Given the description of an element on the screen output the (x, y) to click on. 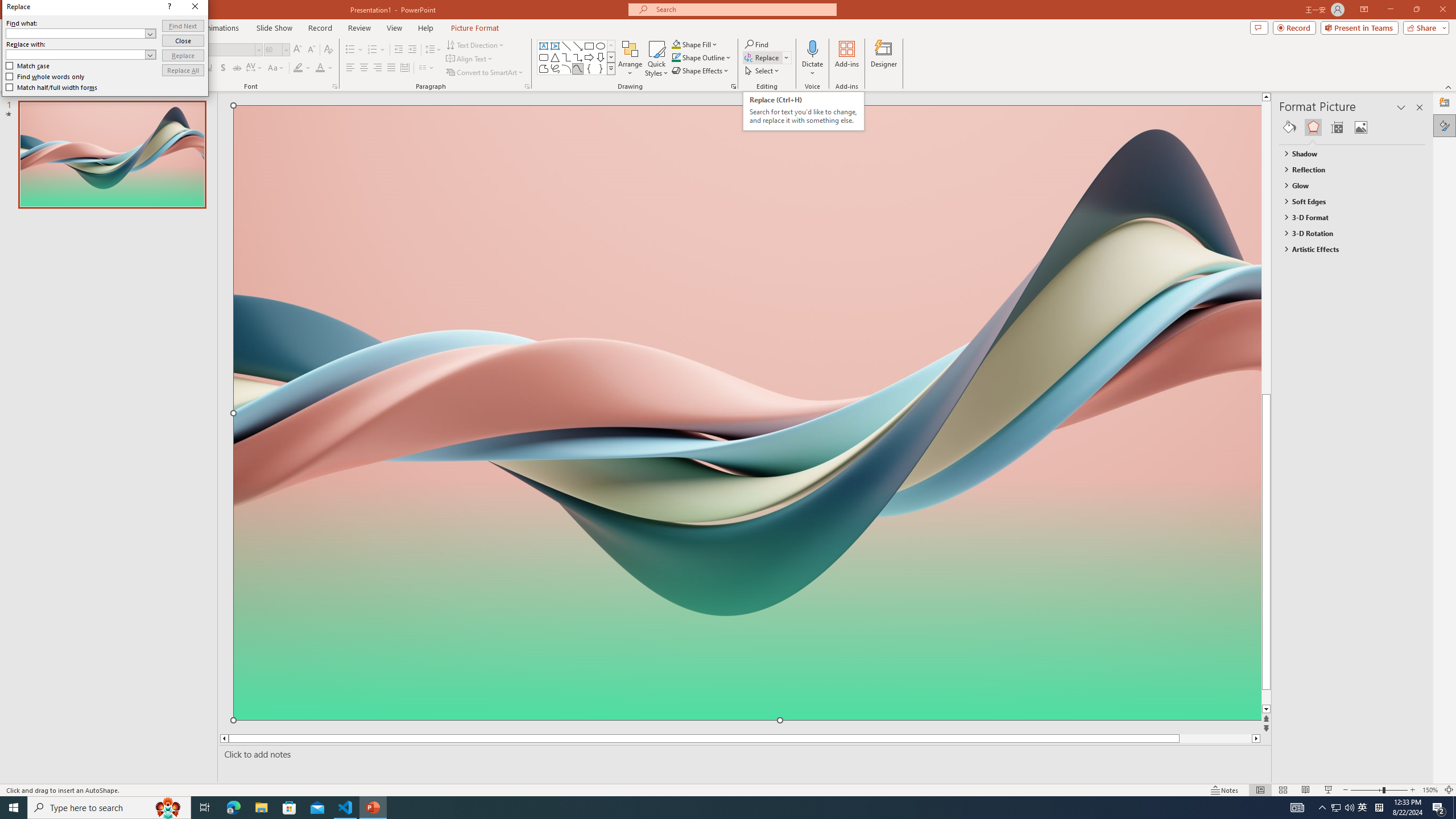
Bullets (354, 49)
Change Case (276, 67)
Review (359, 28)
Designer (883, 58)
Align Right (377, 67)
Match half/full width forms (52, 86)
Wavy 3D art (747, 412)
Running applications (707, 807)
Restore Down (1416, 9)
Find what (80, 33)
Help (425, 28)
Replace All (183, 69)
Microsoft Store (289, 807)
